Given the description of an element on the screen output the (x, y) to click on. 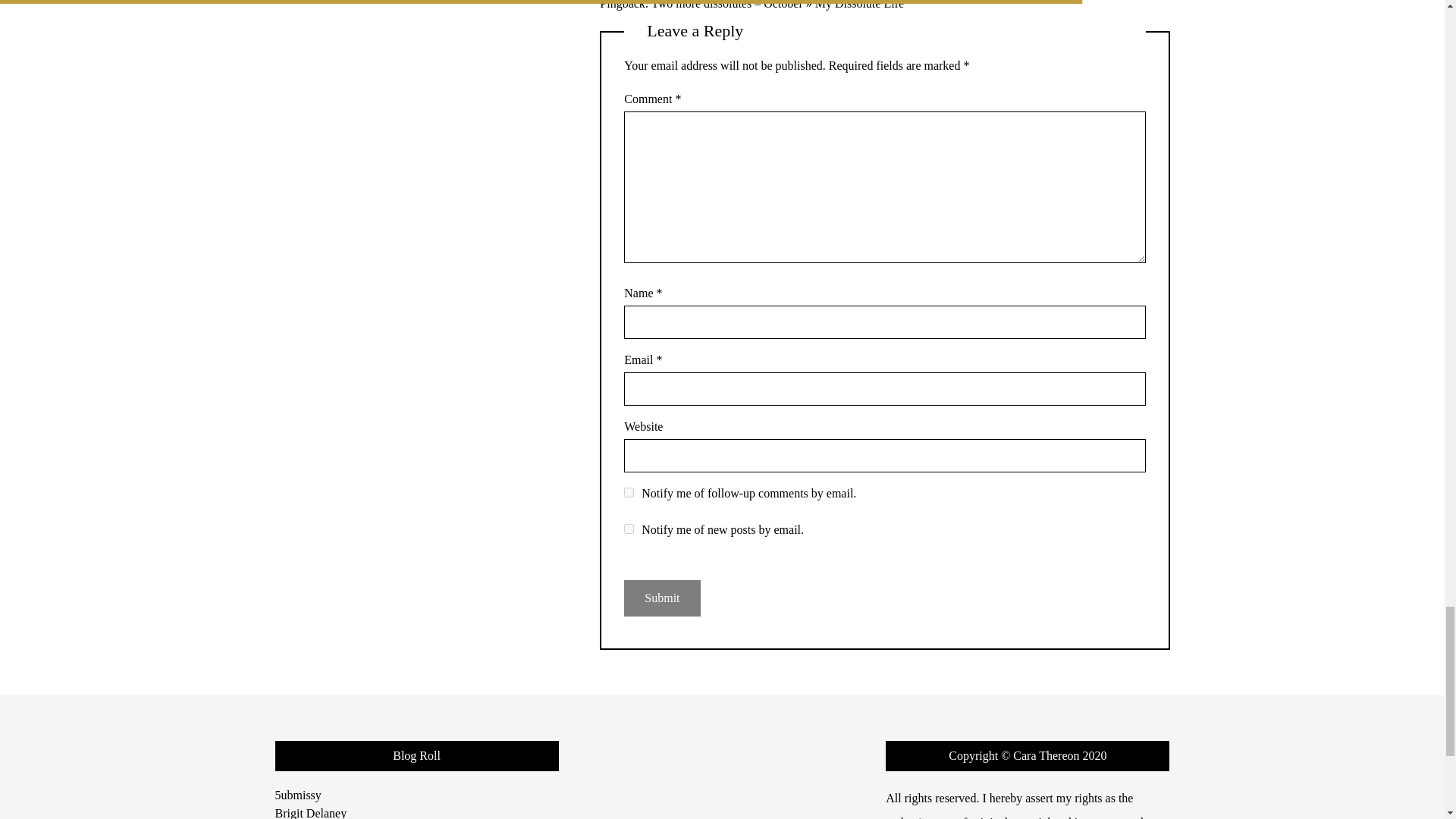
Submit (662, 597)
subscribe (628, 528)
subscribe (628, 492)
